Given the description of an element on the screen output the (x, y) to click on. 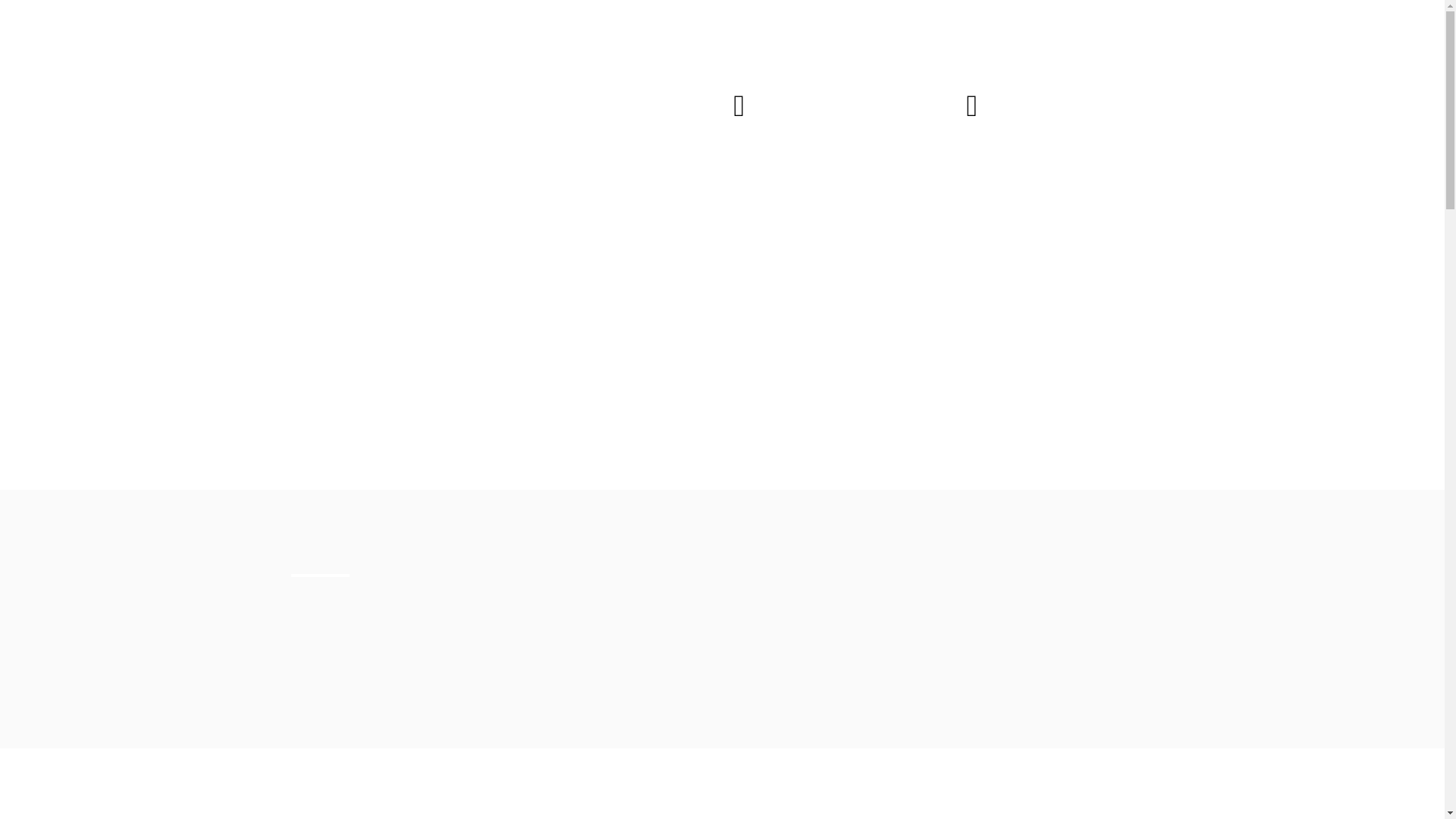
map-marker (739, 105)
